Given the description of an element on the screen output the (x, y) to click on. 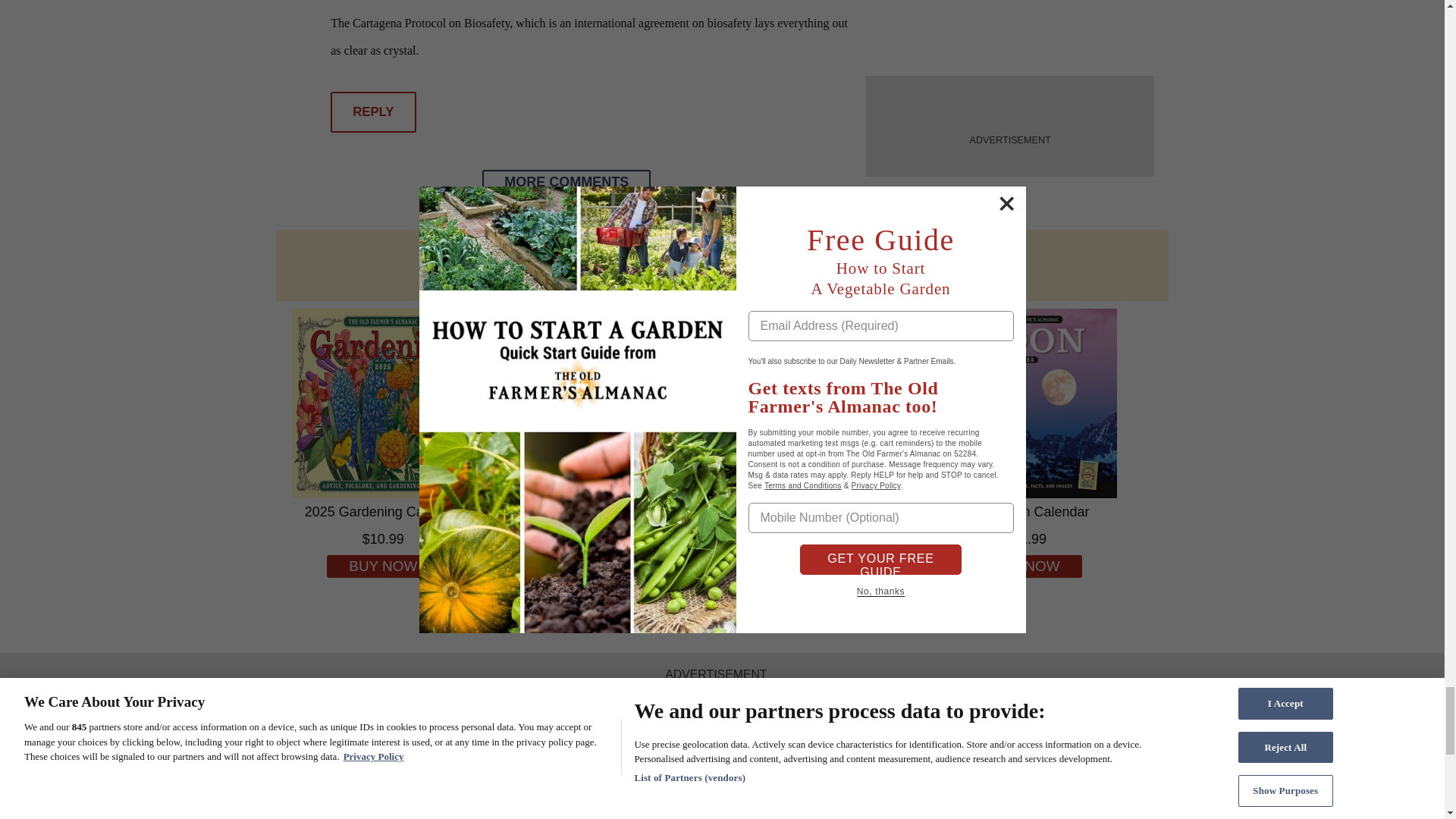
Load more items (565, 181)
